Given the description of an element on the screen output the (x, y) to click on. 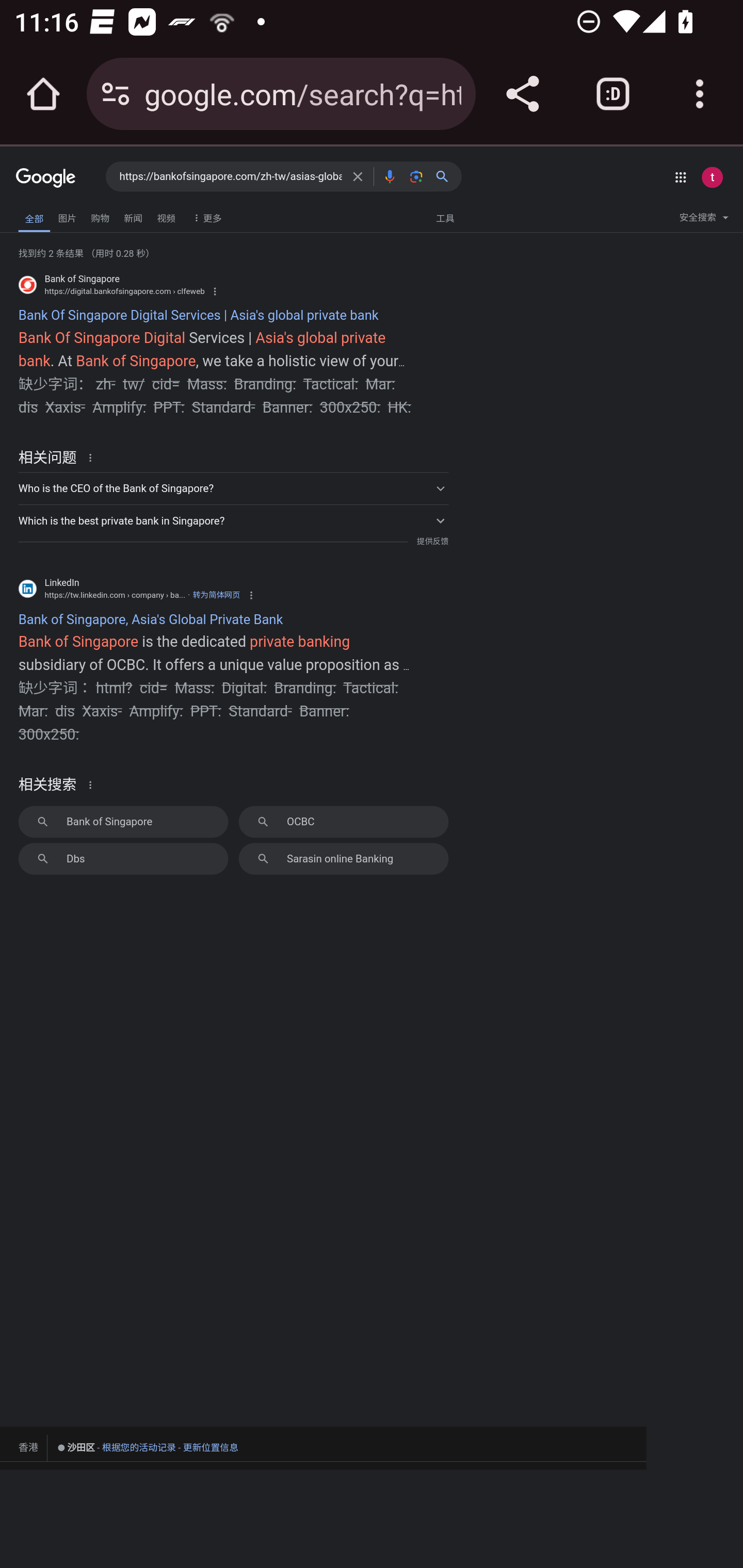
Open the home page (43, 93)
Connection is secure (115, 93)
Share (522, 93)
Switch or close tabs (612, 93)
Customize and control Google Chrome (699, 93)
清除 (357, 176)
按语音搜索 (389, 176)
按图搜索 (415, 176)
搜索 (446, 176)
Google 应用 (680, 176)
Google 账号： test appium (testappium002@gmail.com) (712, 176)
Google (45, 178)
无障碍功能反馈 (42, 212)
图片 (67, 216)
购物 (99, 216)
新闻 (133, 216)
视频 (166, 216)
更多 (205, 216)
安全搜索 (703, 219)
工具 (444, 216)
关于这条结果的详细信息 (93, 457)
Who is the CEO of the Bank of Singapore? (232, 487)
Which is the best private bank in Singapore? (232, 519)
提供反馈 (432, 541)
转为简体网页 (216, 595)
关于这条结果的详细信息 (93, 784)
Bank of Singapore (122, 821)
OCBC (343, 821)
Dbs (122, 858)
Sarasin online Banking (343, 858)
沙田区  - 根据您的活动记录 (116, 1447)
更新位置信息 (210, 1446)
